Given the description of an element on the screen output the (x, y) to click on. 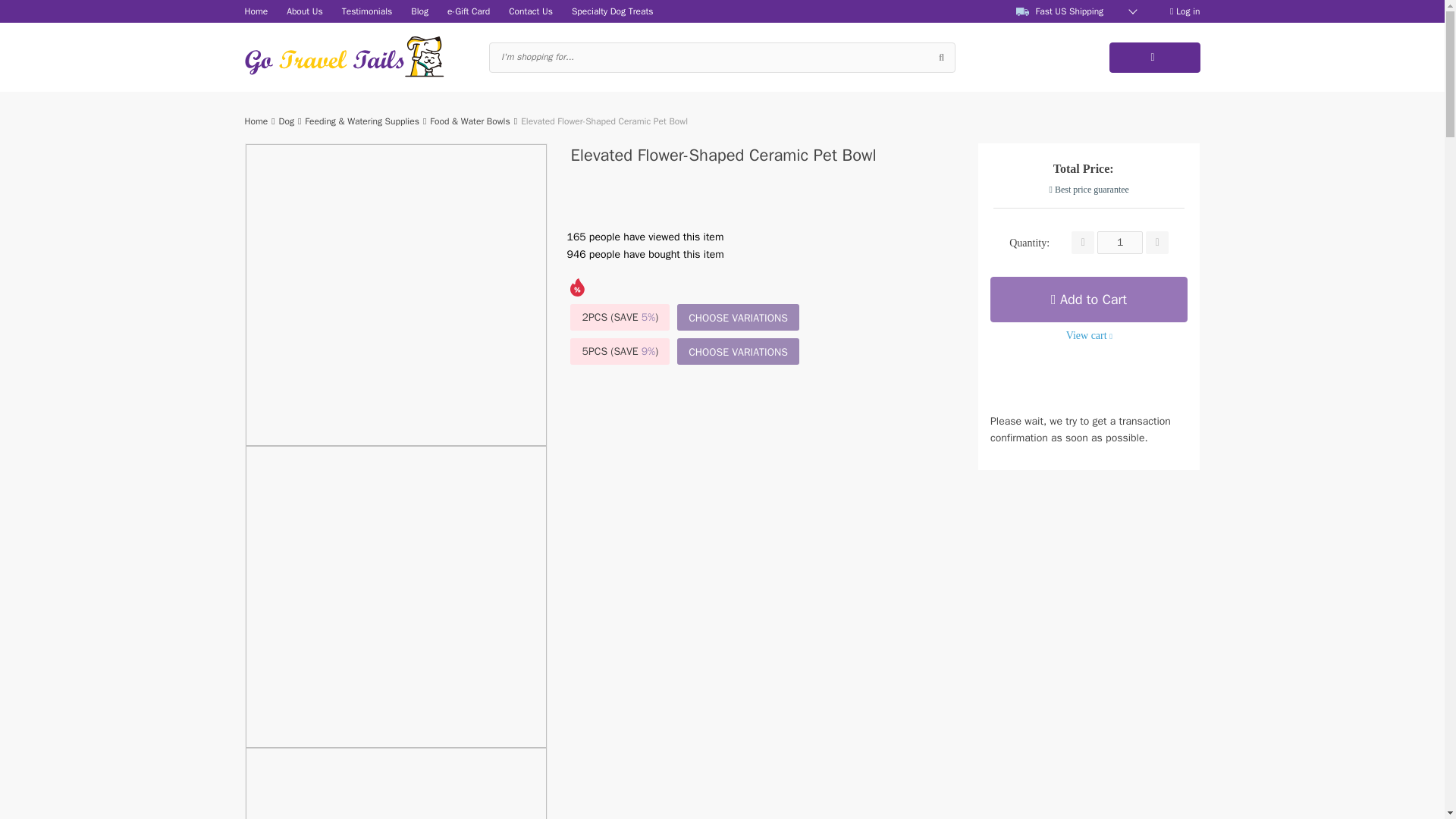
1 (1119, 241)
20602-493ffb.jpg (396, 596)
20602-2ff36c.jpg (396, 783)
